Given the description of an element on the screen output the (x, y) to click on. 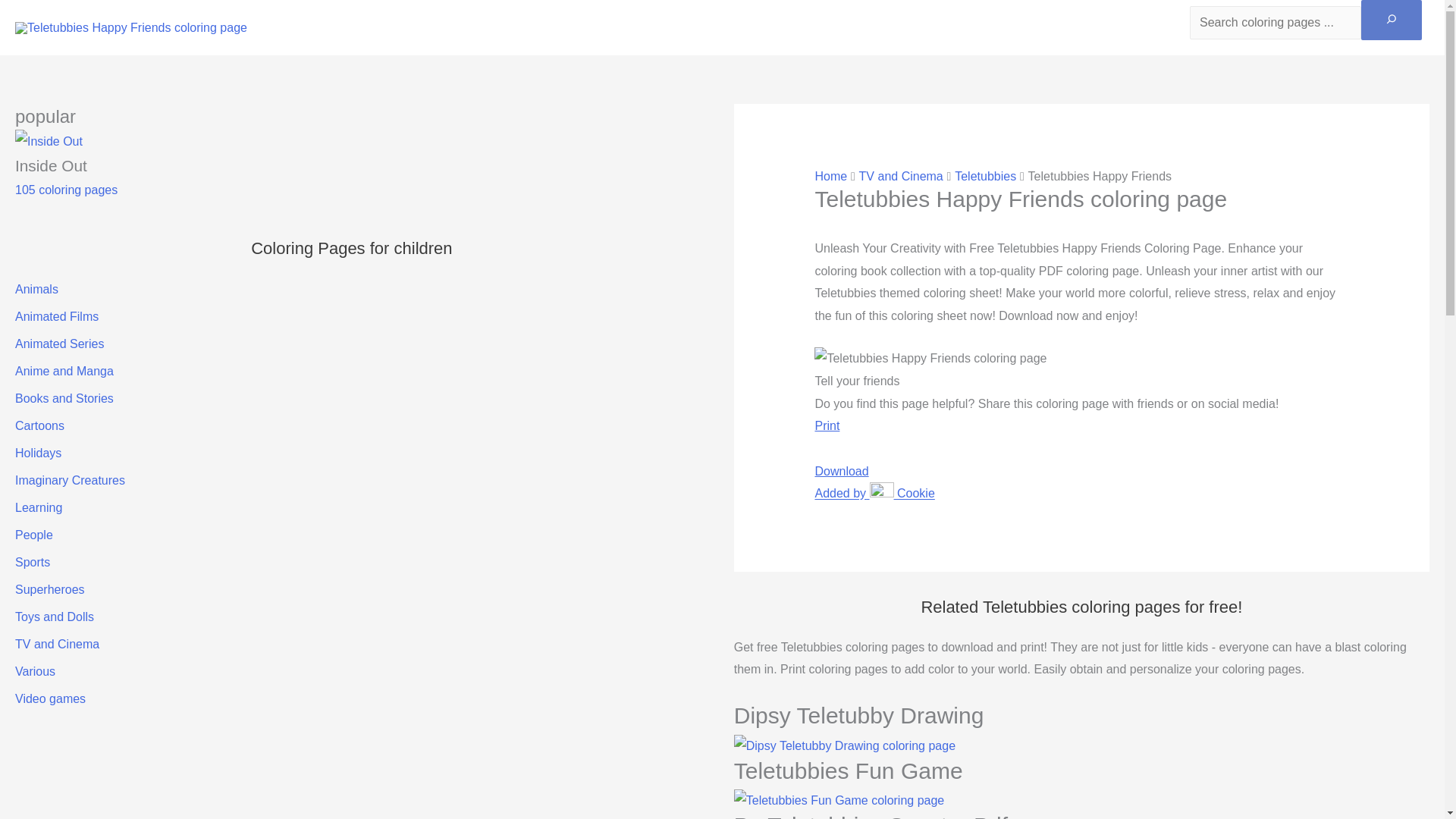
People coloring pages (33, 534)
Animals (36, 288)
Animated Films (56, 316)
TV and Cinema (56, 644)
Superheroes (49, 589)
Books and Stories coloring pages (63, 398)
Anime and Manga coloring pages (63, 370)
Animated Series coloring pages (58, 343)
Various (34, 671)
Toys and Dolls coloring pages (54, 616)
